Given the description of an element on the screen output the (x, y) to click on. 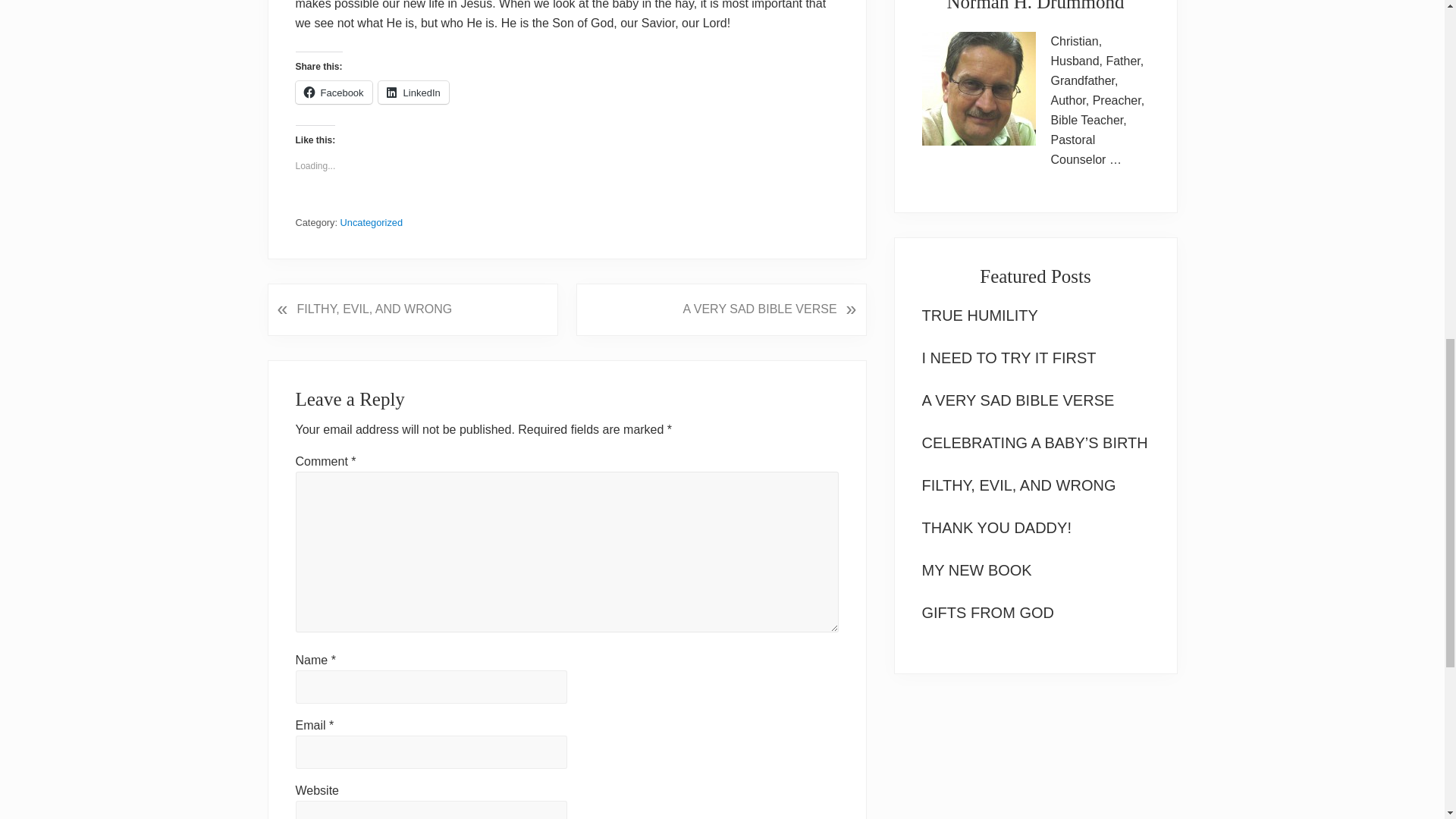
Click to share on LinkedIn (413, 92)
Facebook (333, 92)
Uncategorized (371, 222)
A VERY SAD BIBLE VERSE (1018, 400)
LinkedIn (413, 92)
Click to share on Facebook (333, 92)
I NEED TO TRY IT FIRST (1008, 357)
TRUE HUMILITY (979, 315)
